Given the description of an element on the screen output the (x, y) to click on. 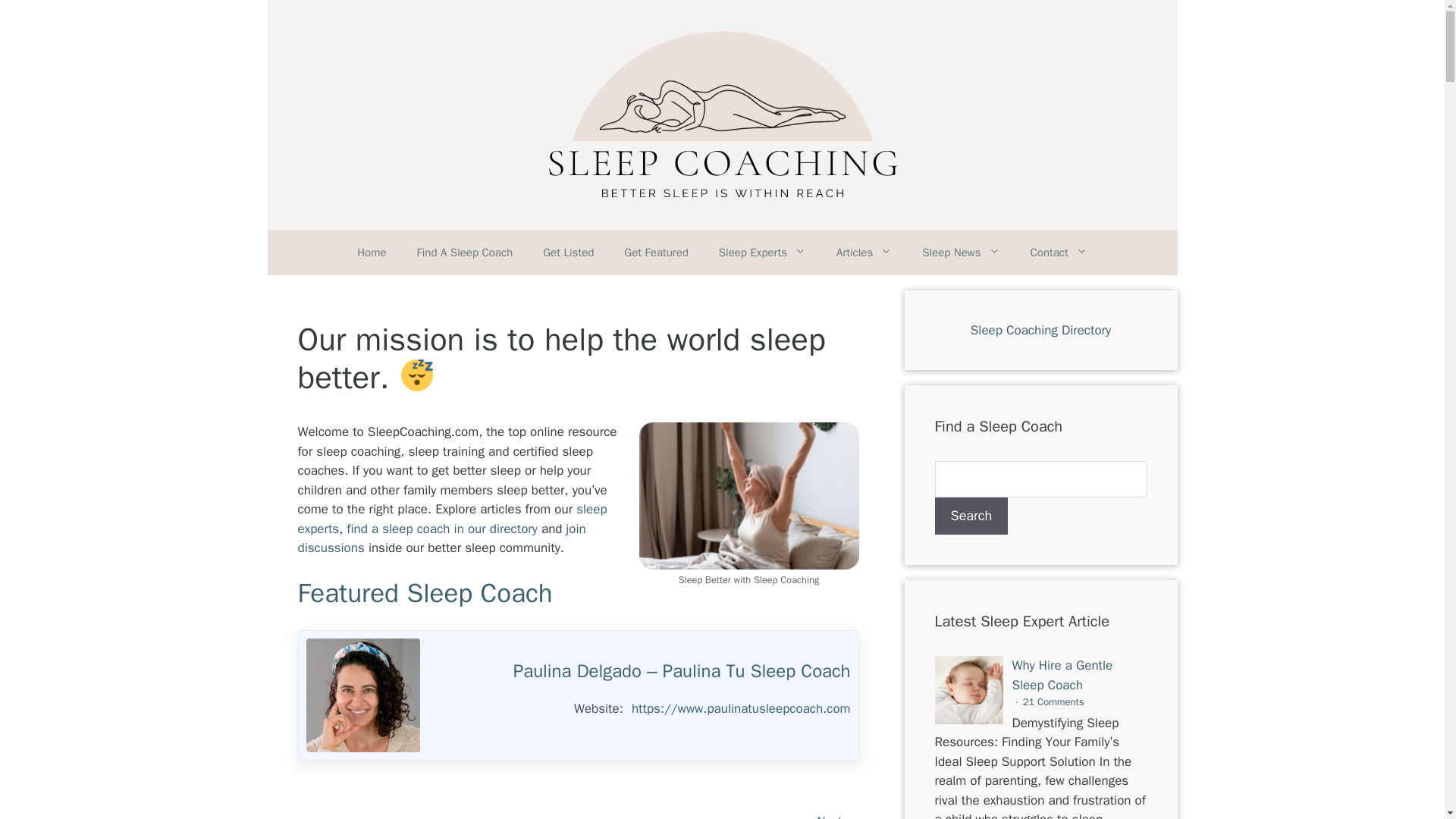
Home (371, 251)
sleep experts (452, 519)
Paulina Delgado - Paulina Tu Sleep Coach (362, 695)
find a sleep coach in our directory (441, 528)
join discussions (441, 538)
Get Featured (655, 251)
Search (970, 515)
Sleep Experts (762, 251)
Sleep Better with Sleep Coaching (749, 495)
Search (970, 515)
Contact (1058, 251)
Get Listed (567, 251)
Sleep News (960, 251)
Find A Sleep Coach (464, 251)
Articles (864, 251)
